Given the description of an element on the screen output the (x, y) to click on. 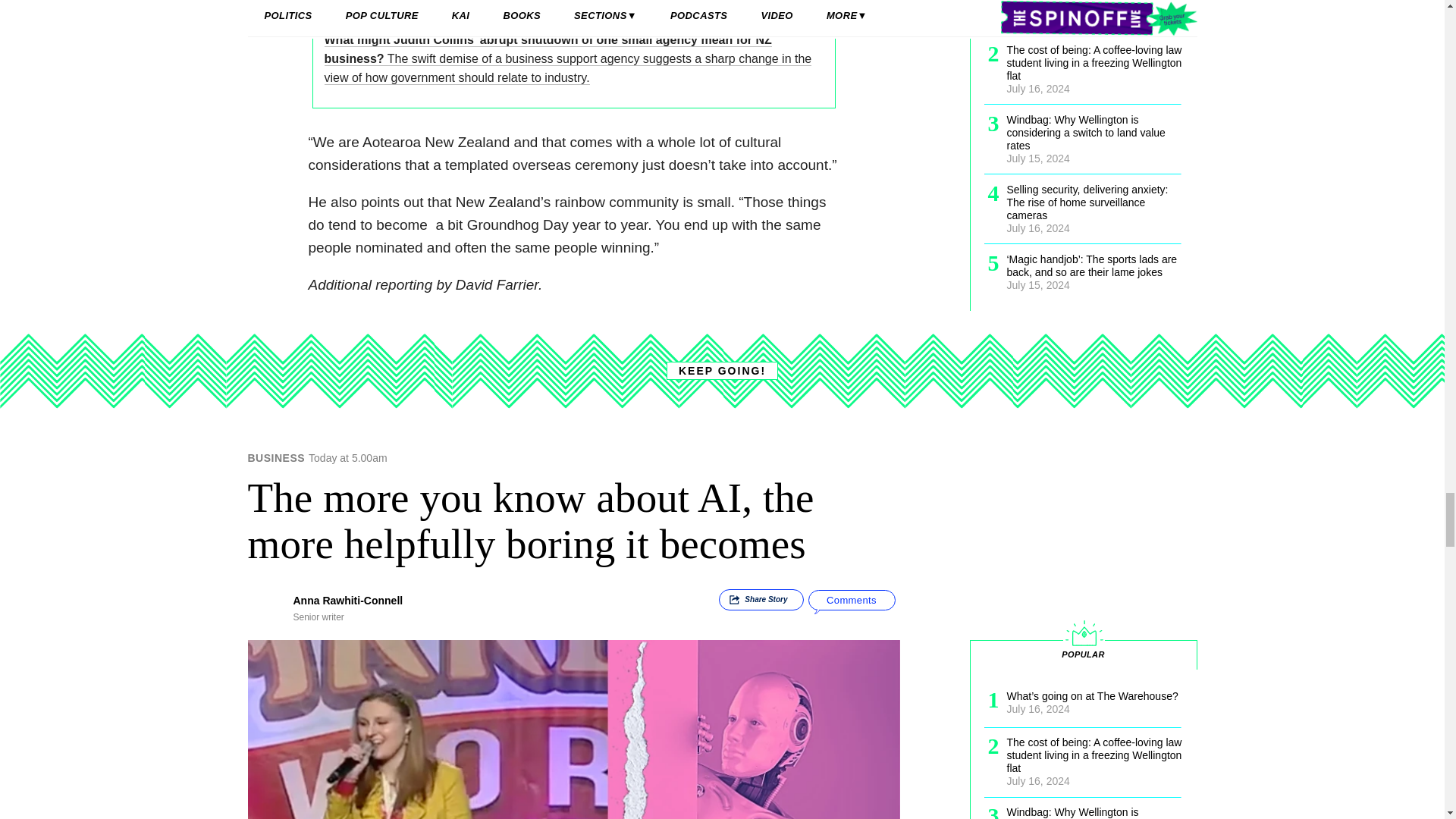
view all posts by Anna Rawhiti-Connell (347, 600)
KEEP GOING! (721, 370)
Comments (851, 599)
